Given the description of an element on the screen output the (x, y) to click on. 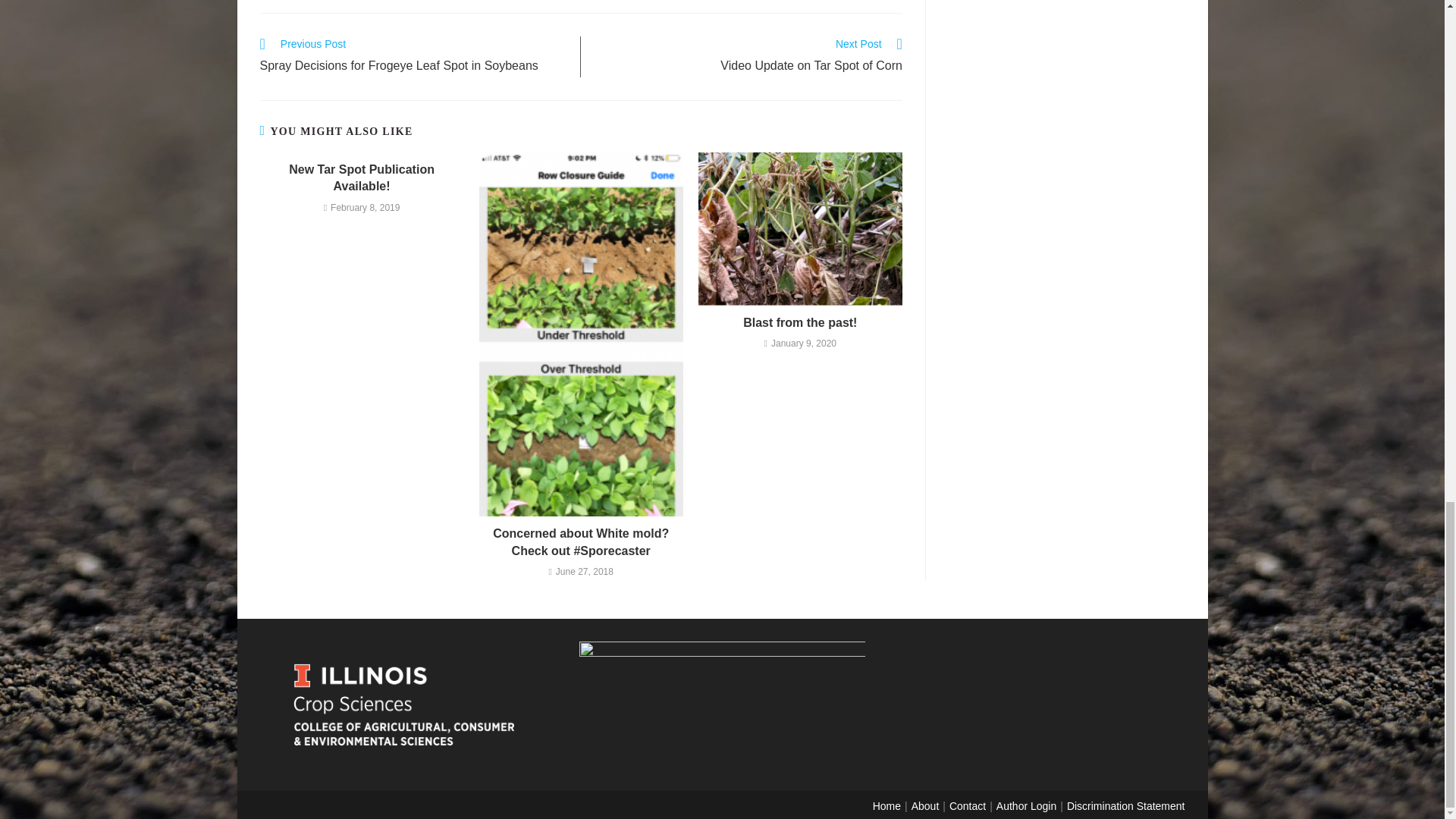
New Tar Spot Publication Available! (360, 178)
New Tar Spot Publication Available! (360, 178)
Blast from the past! (748, 56)
Blast from the past! (800, 322)
